Given the description of an element on the screen output the (x, y) to click on. 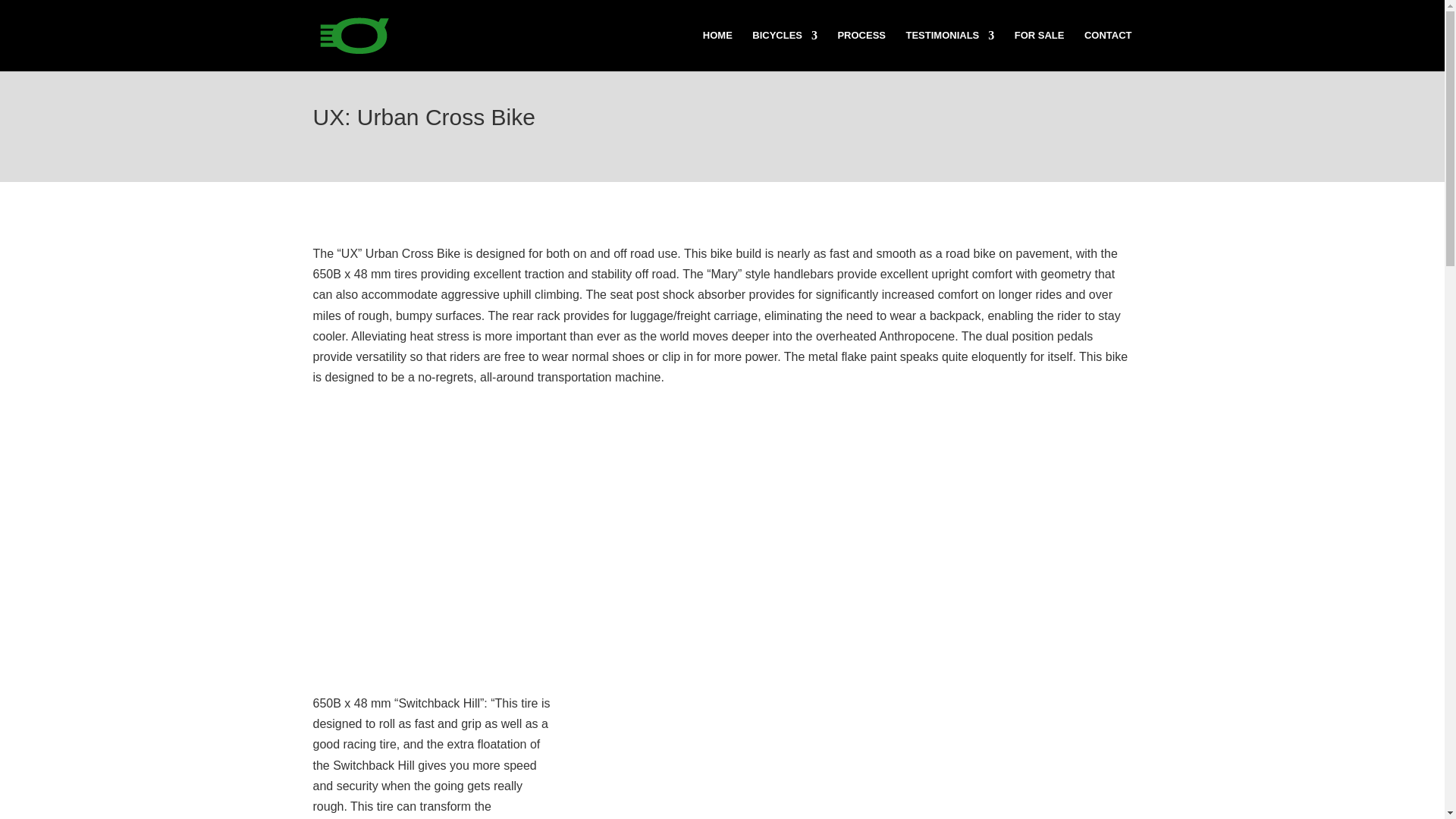
CONTACT (1108, 50)
PROCESS (861, 50)
BICYCLES (784, 50)
FOR SALE (1039, 50)
TESTIMONIALS (949, 50)
